Given the description of an element on the screen output the (x, y) to click on. 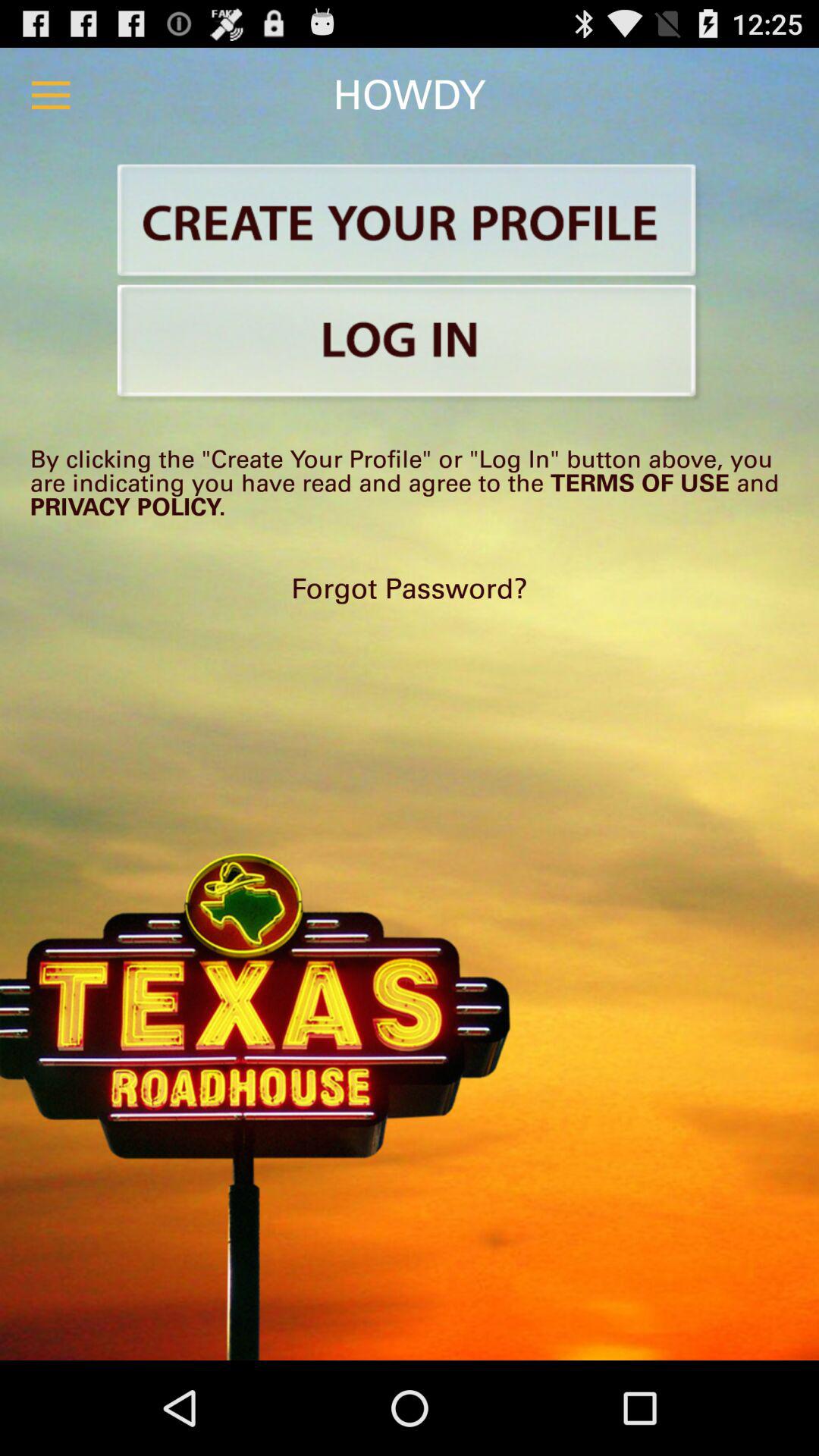
choose the app below the by clicking the (409, 588)
